Given the description of an element on the screen output the (x, y) to click on. 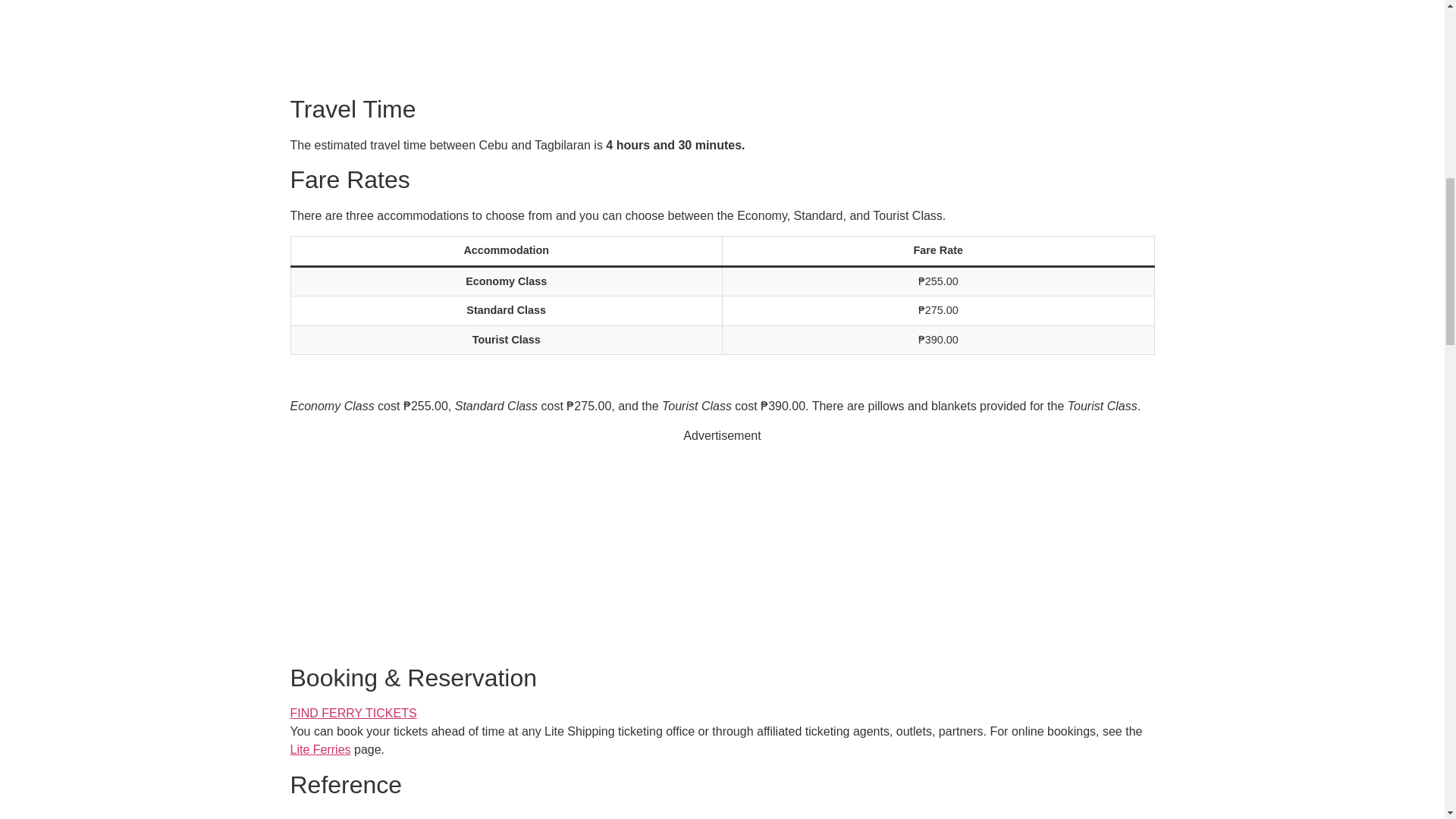
FIND FERRY TICKETS (352, 712)
Lite Ferries (319, 748)
Advertisement (721, 44)
